Given the description of an element on the screen output the (x, y) to click on. 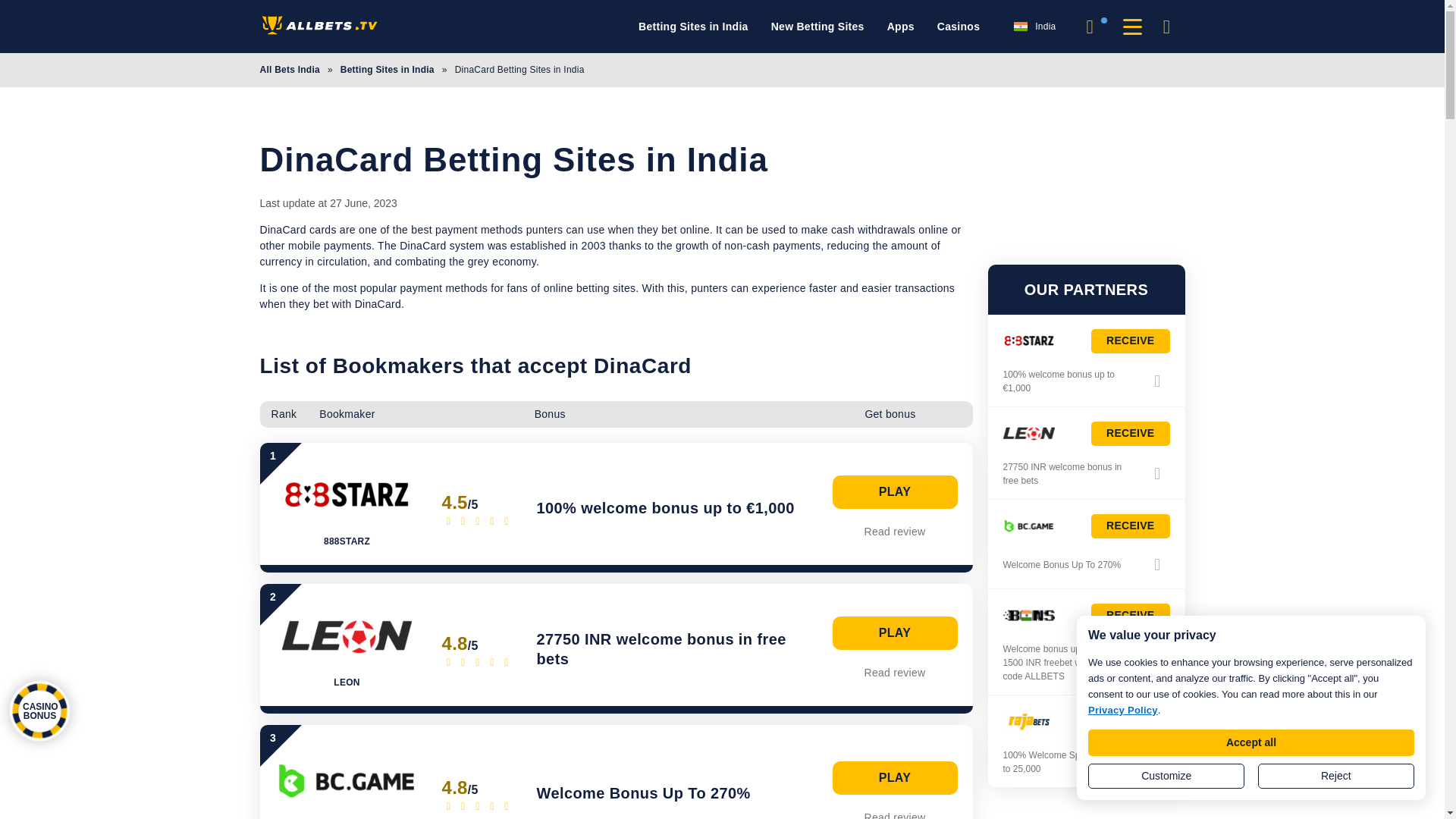
Casinos (958, 26)
Betting Sites in India (692, 26)
New Betting Sites (817, 26)
